Given the description of an element on the screen output the (x, y) to click on. 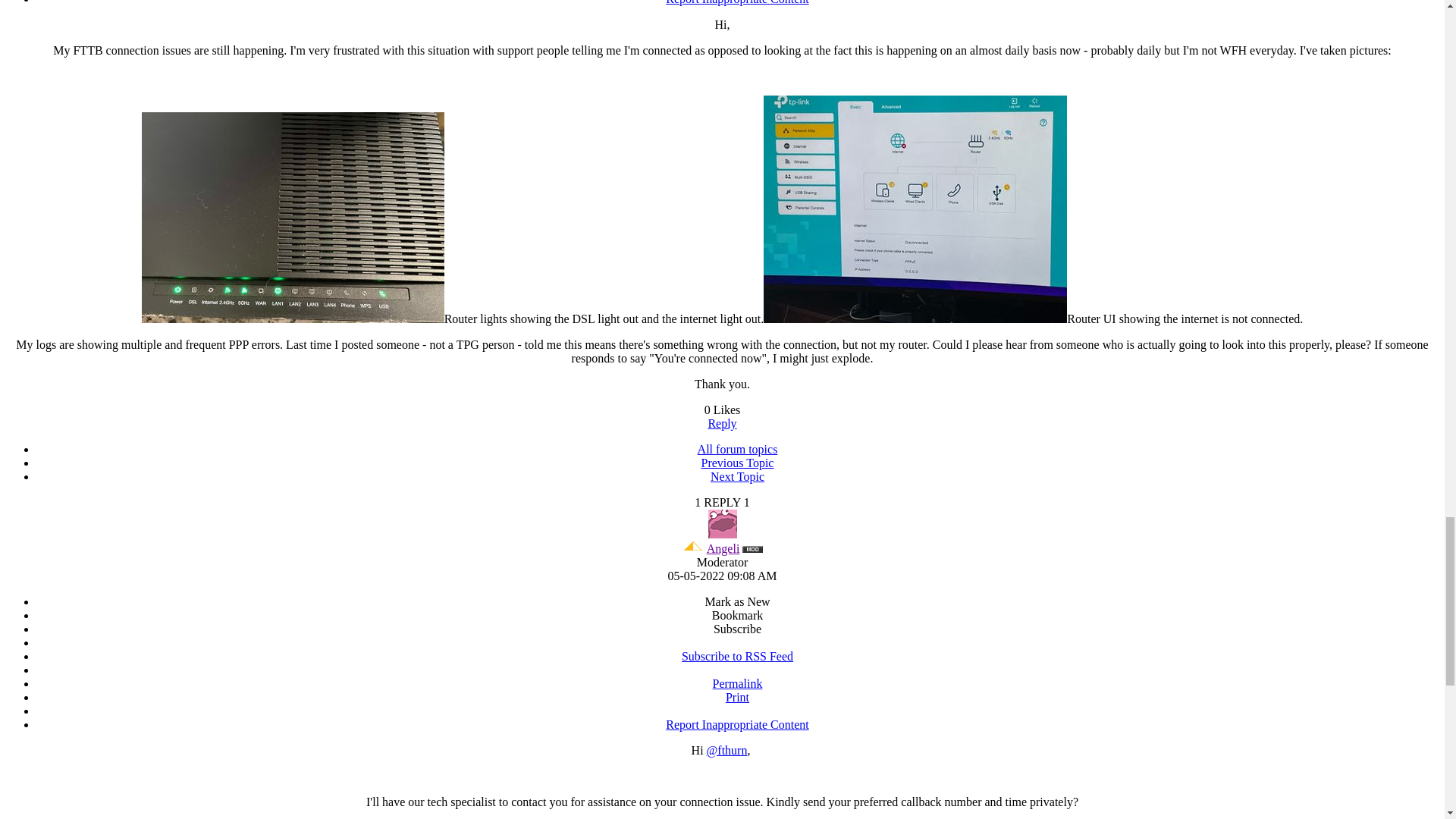
The total number of kudos this post has received. (722, 409)
Broadband Internet (737, 449)
www.tplinkwifi.net login page not opening? (737, 476)
